Given the description of an element on the screen output the (x, y) to click on. 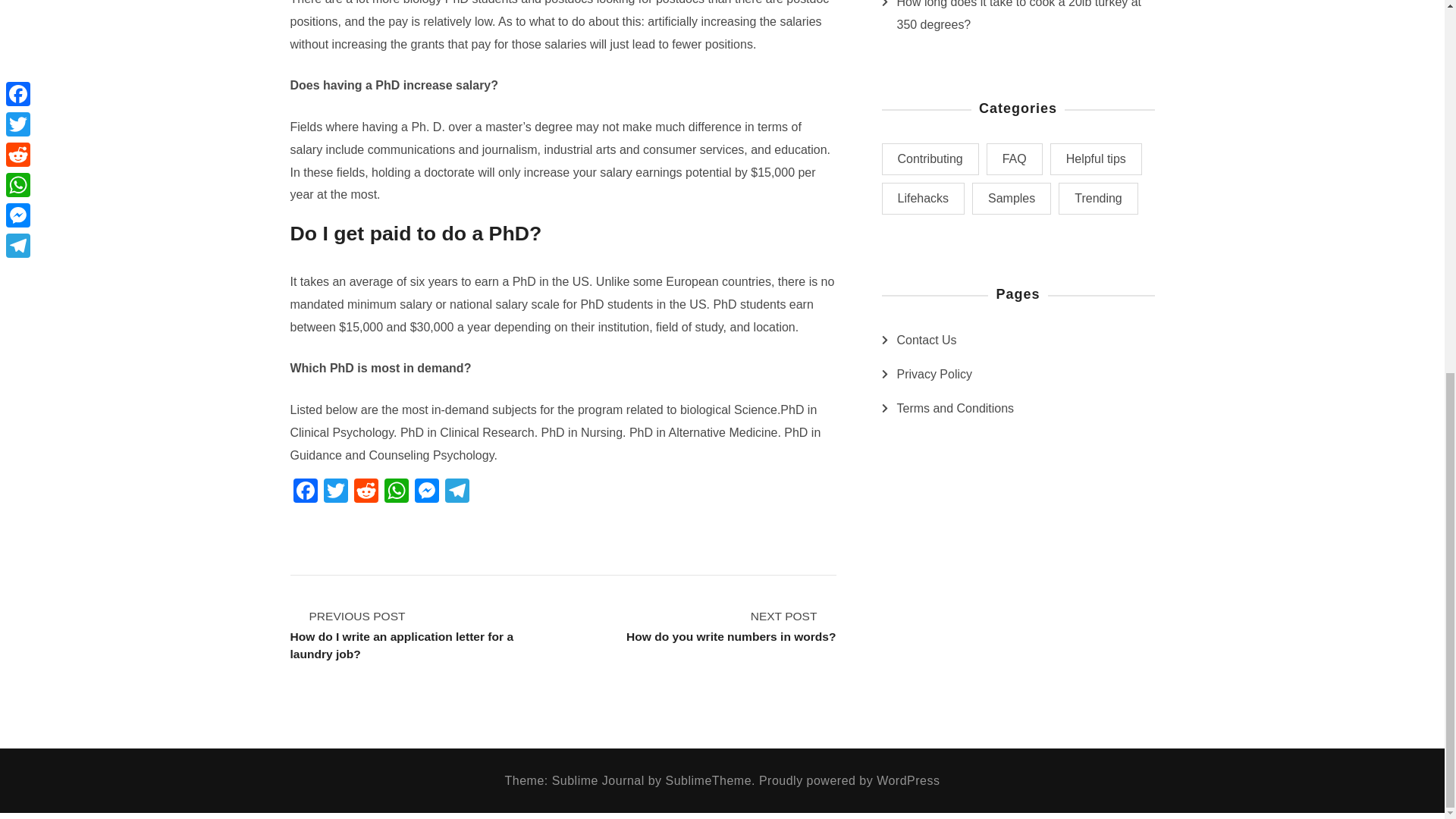
Contact Us (926, 340)
Messenger (425, 492)
Proudly powered by WordPress (730, 625)
Telegram (848, 780)
Terms and Conditions (456, 492)
SublimeTheme (954, 408)
Messenger (708, 780)
Privacy Policy (425, 492)
Lifehacks (933, 374)
